Given the description of an element on the screen output the (x, y) to click on. 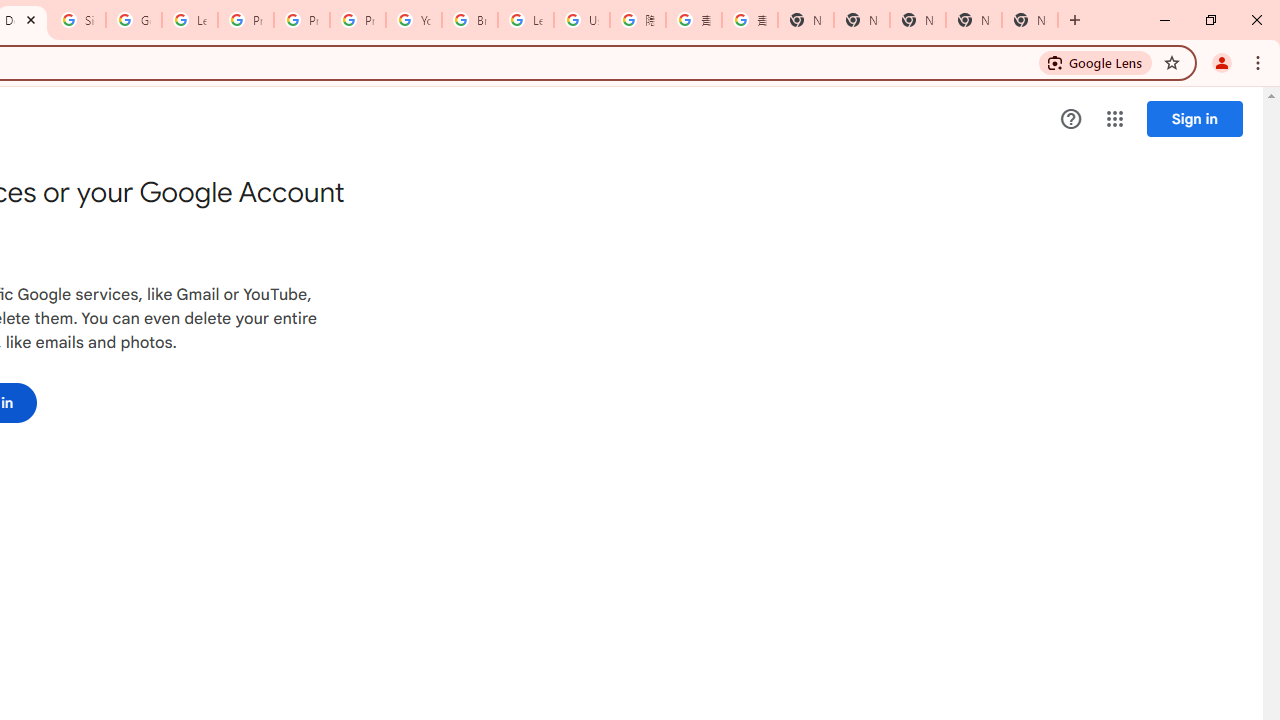
New Tab (806, 20)
Privacy Help Center - Policies Help (245, 20)
Search with Google Lens (1095, 62)
YouTube (413, 20)
